Given the description of an element on the screen output the (x, y) to click on. 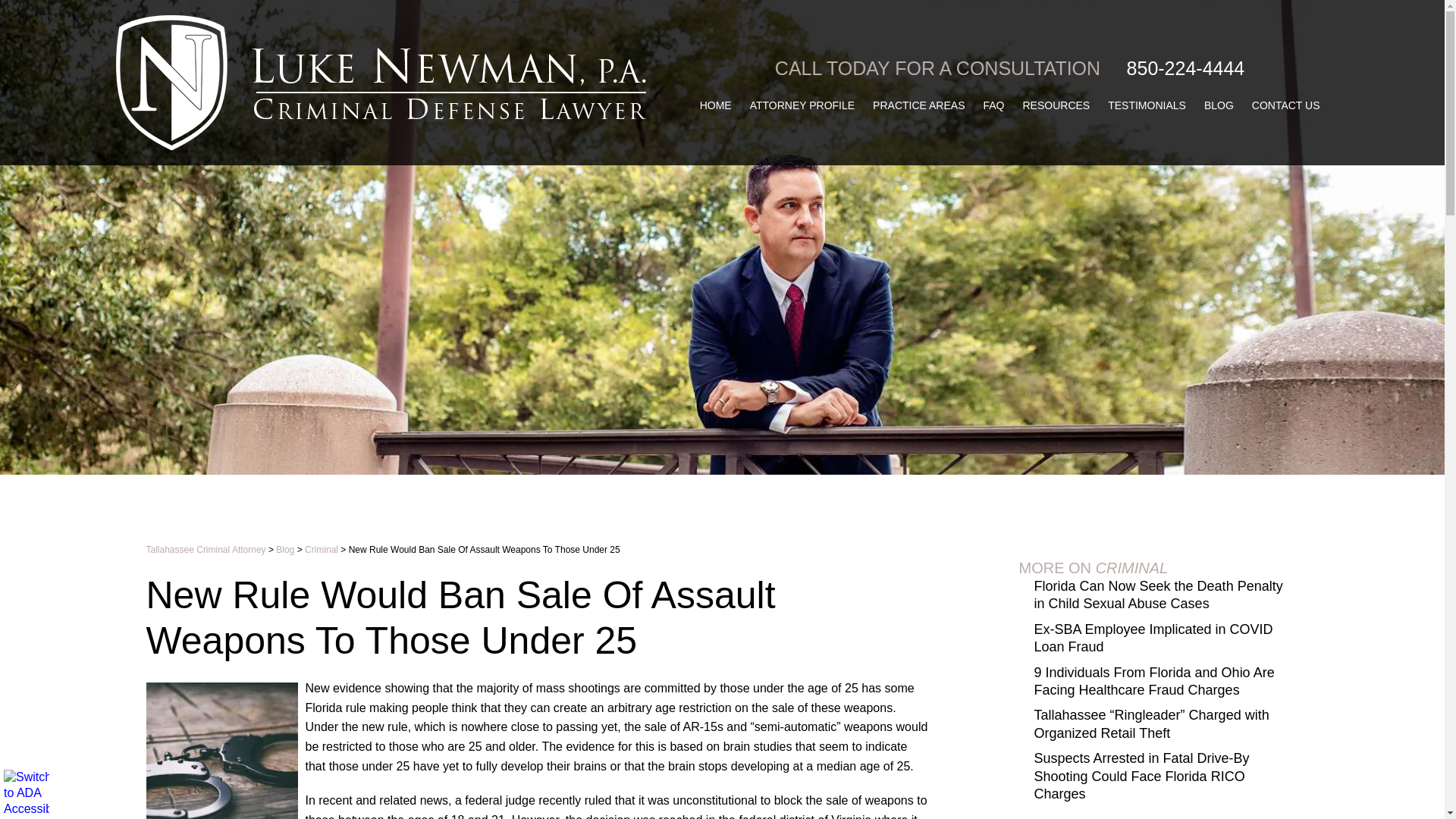
Switch to ADA Accessible Theme (26, 791)
Handcuffs4 (221, 750)
PRACTICE AREAS (918, 104)
HOME (715, 104)
FAQ (993, 104)
CONTACT US (1286, 104)
850-224-4444 (1185, 68)
TESTIMONIALS (1147, 104)
RESOURCES (1056, 104)
ATTORNEY PROFILE (802, 104)
BLOG (1219, 104)
